Given the description of an element on the screen output the (x, y) to click on. 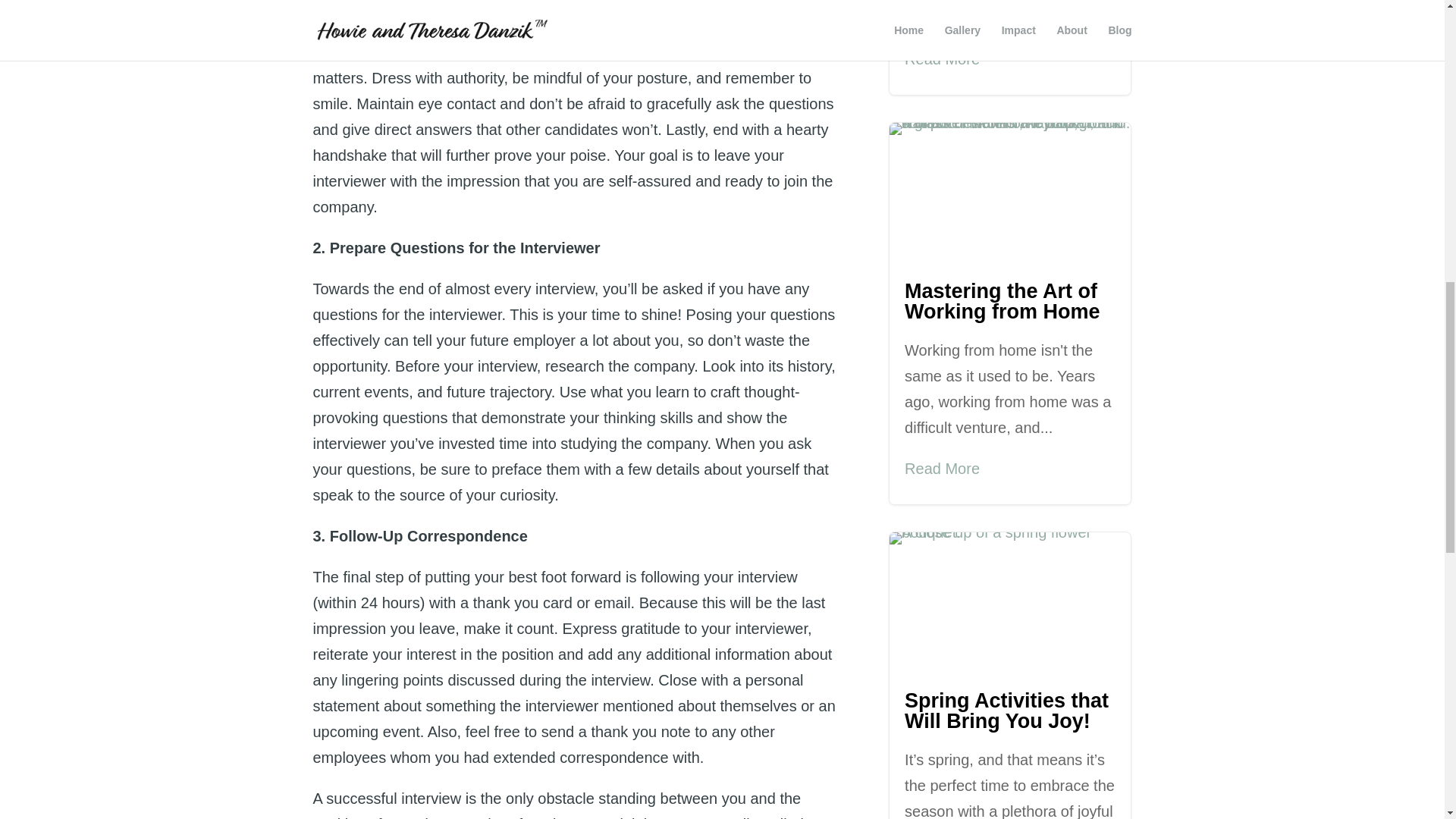
Spring Activities that Will Bring You Joy!  (1006, 710)
Read More (941, 468)
Mastering the Art of Working from Home (1002, 301)
Read More (941, 58)
